Given the description of an element on the screen output the (x, y) to click on. 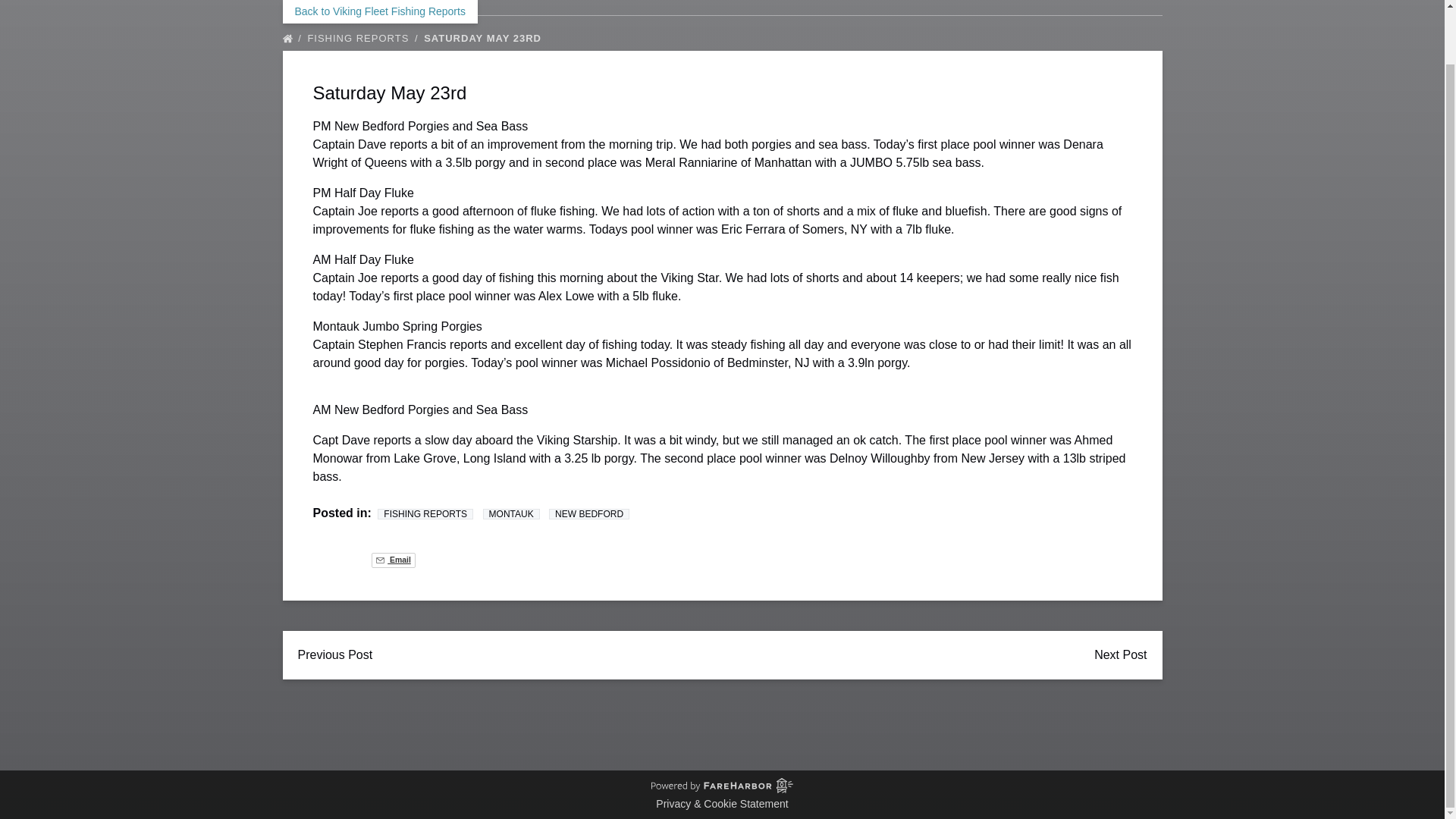
SATURDAY MAY 23RD (485, 38)
FISHING REPORTS (425, 513)
FISHING REPORTS (363, 38)
Back to Viking Fleet Fishing Reports (379, 11)
MONTAUK (511, 513)
